Given the description of an element on the screen output the (x, y) to click on. 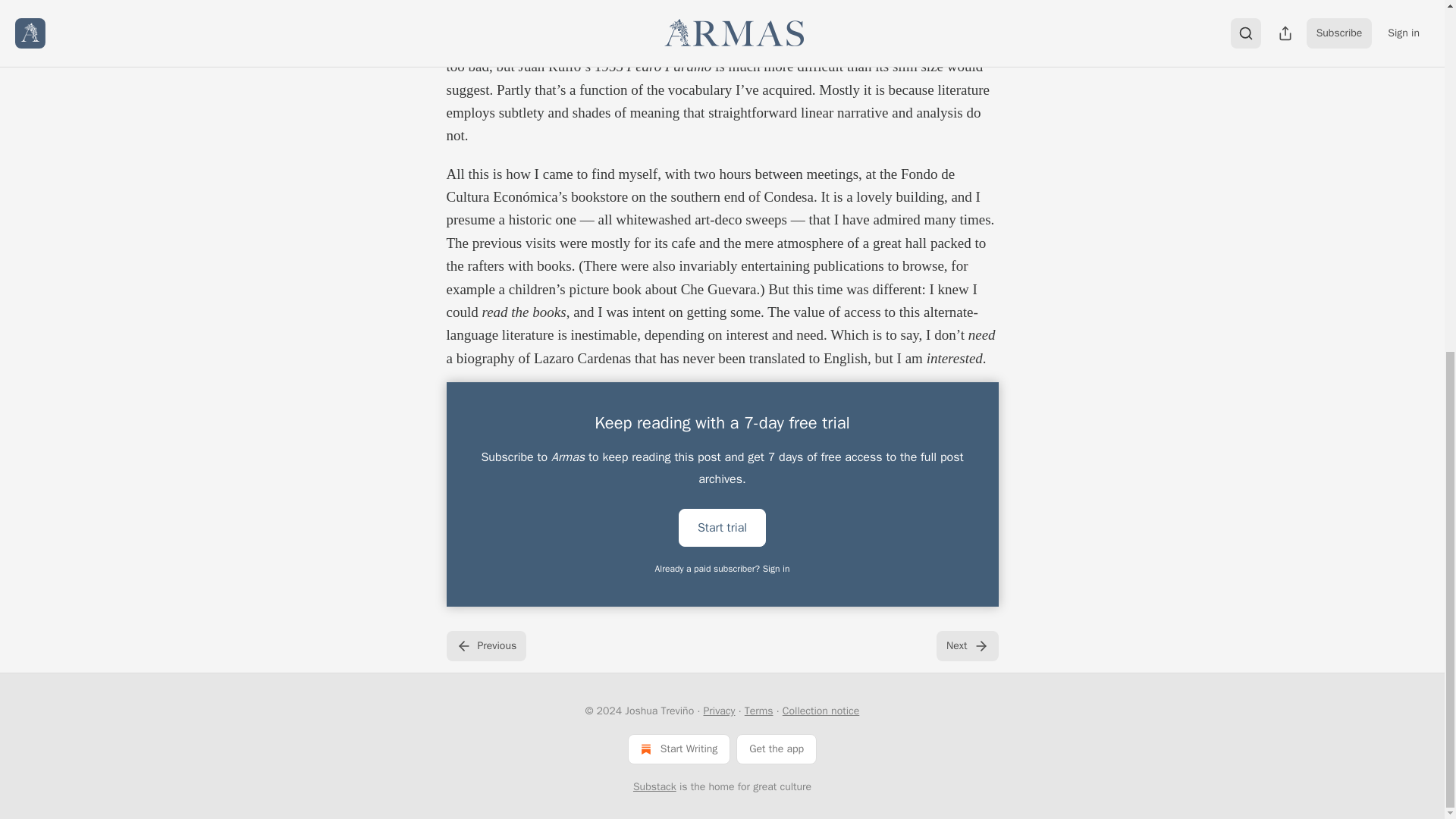
Start Writing (678, 748)
Start trial (721, 526)
Privacy (719, 710)
Collection notice (821, 710)
Next (966, 645)
Already a paid subscriber? Sign in (722, 568)
Get the app (776, 748)
Terms (758, 710)
Previous (485, 645)
Substack (655, 786)
Start trial (721, 527)
